Given the description of an element on the screen output the (x, y) to click on. 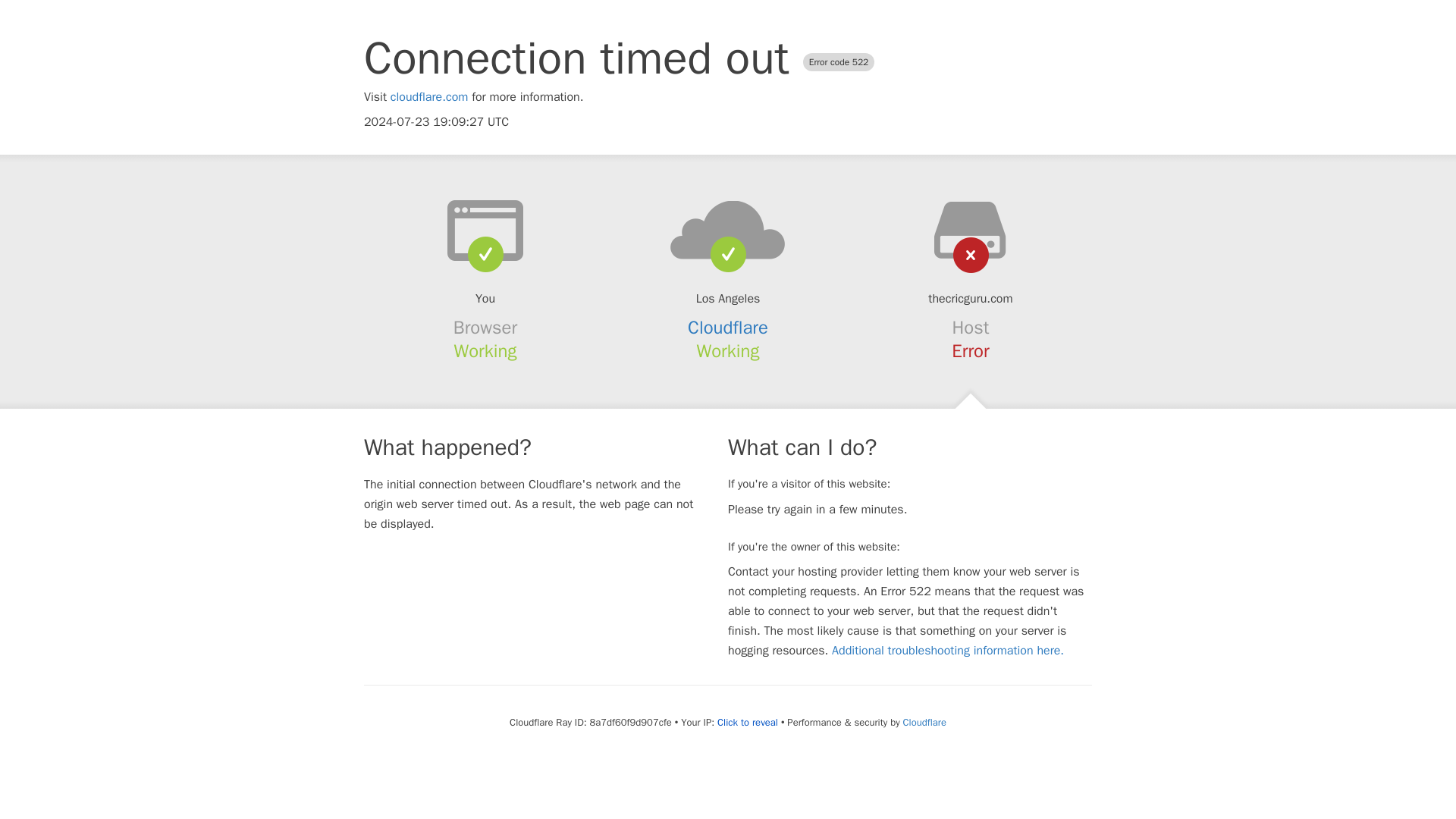
Click to reveal (747, 722)
Cloudflare (727, 327)
Cloudflare (924, 721)
Additional troubleshooting information here. (947, 650)
cloudflare.com (429, 96)
